Given the description of an element on the screen output the (x, y) to click on. 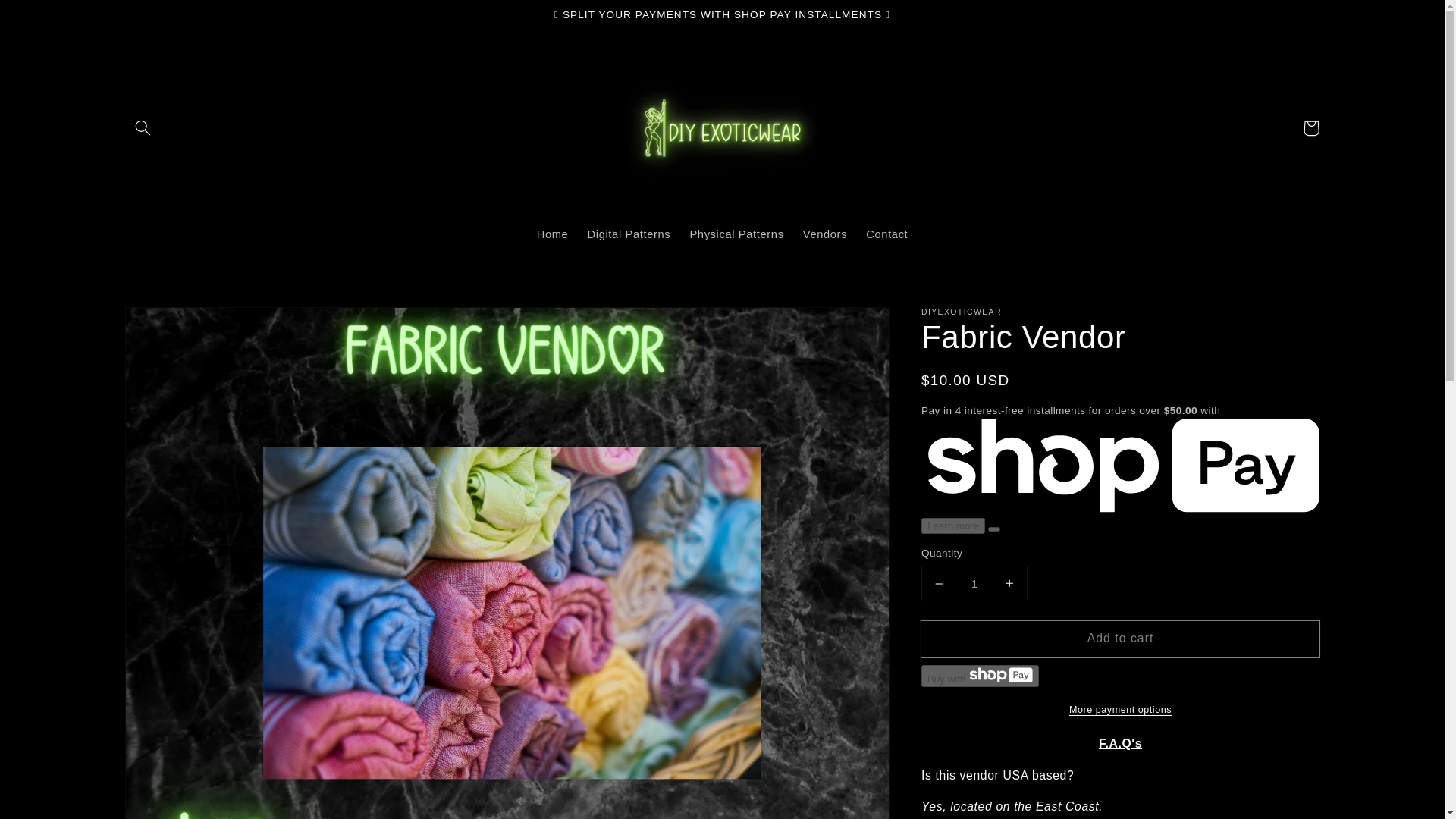
Decrease quantity for Fabric Vendor (938, 583)
Contact (887, 234)
Skip to content (47, 17)
Skip to product information (171, 324)
Cart (1310, 127)
Increase quantity for Fabric Vendor (1009, 583)
Vendors (825, 234)
Home (552, 234)
More payment options (1120, 709)
